Given the description of an element on the screen output the (x, y) to click on. 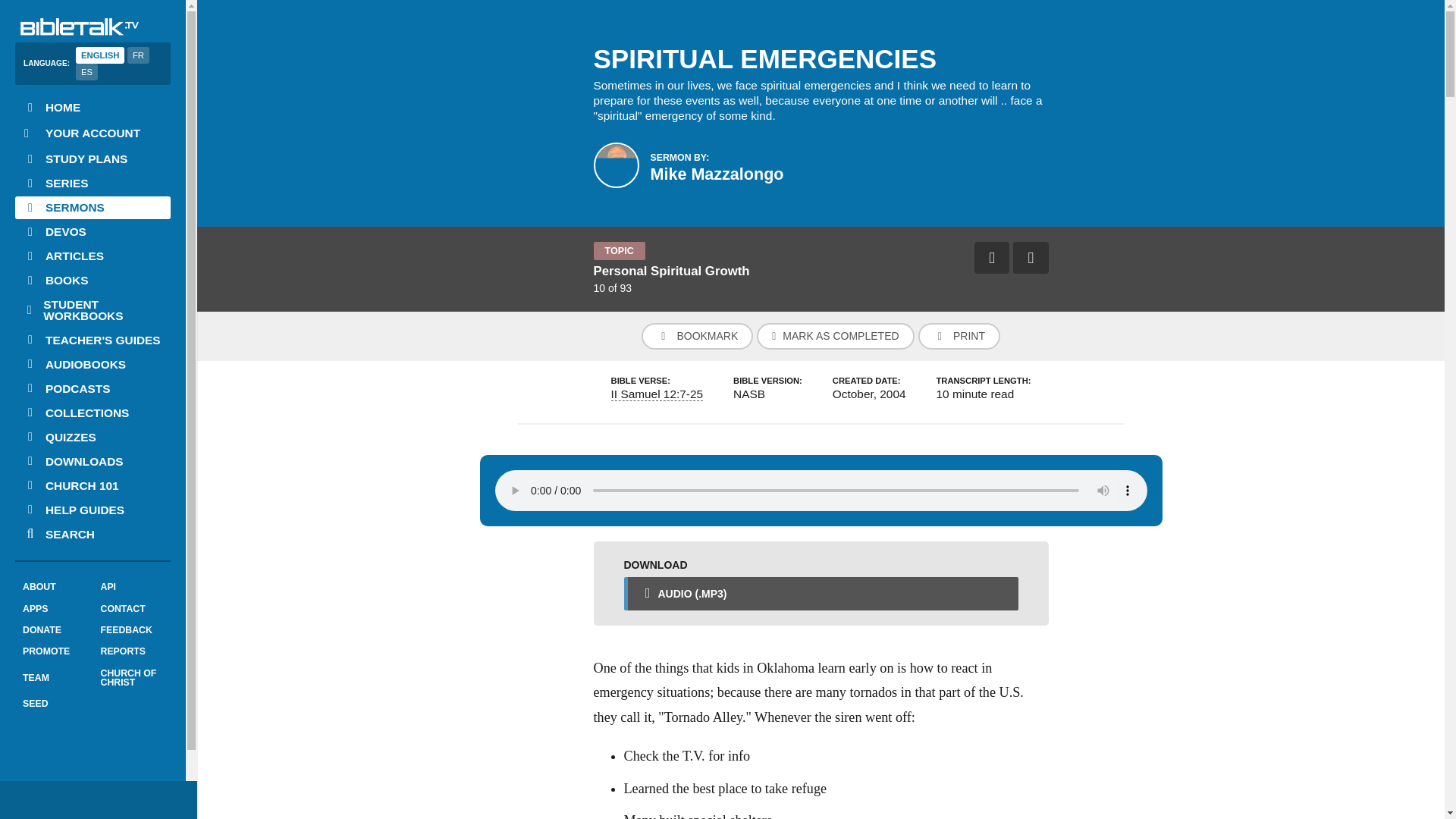
SEARCH (92, 533)
PROMOTE (53, 650)
CONTACT (131, 608)
Go to Next lesson (1030, 257)
STUDY PLANS (92, 159)
TEACHER'S GUIDES (92, 339)
API (131, 587)
BOOKMARK (697, 335)
ENGLISH (99, 54)
CHURCH OF CHRIST (131, 677)
